Given the description of an element on the screen output the (x, y) to click on. 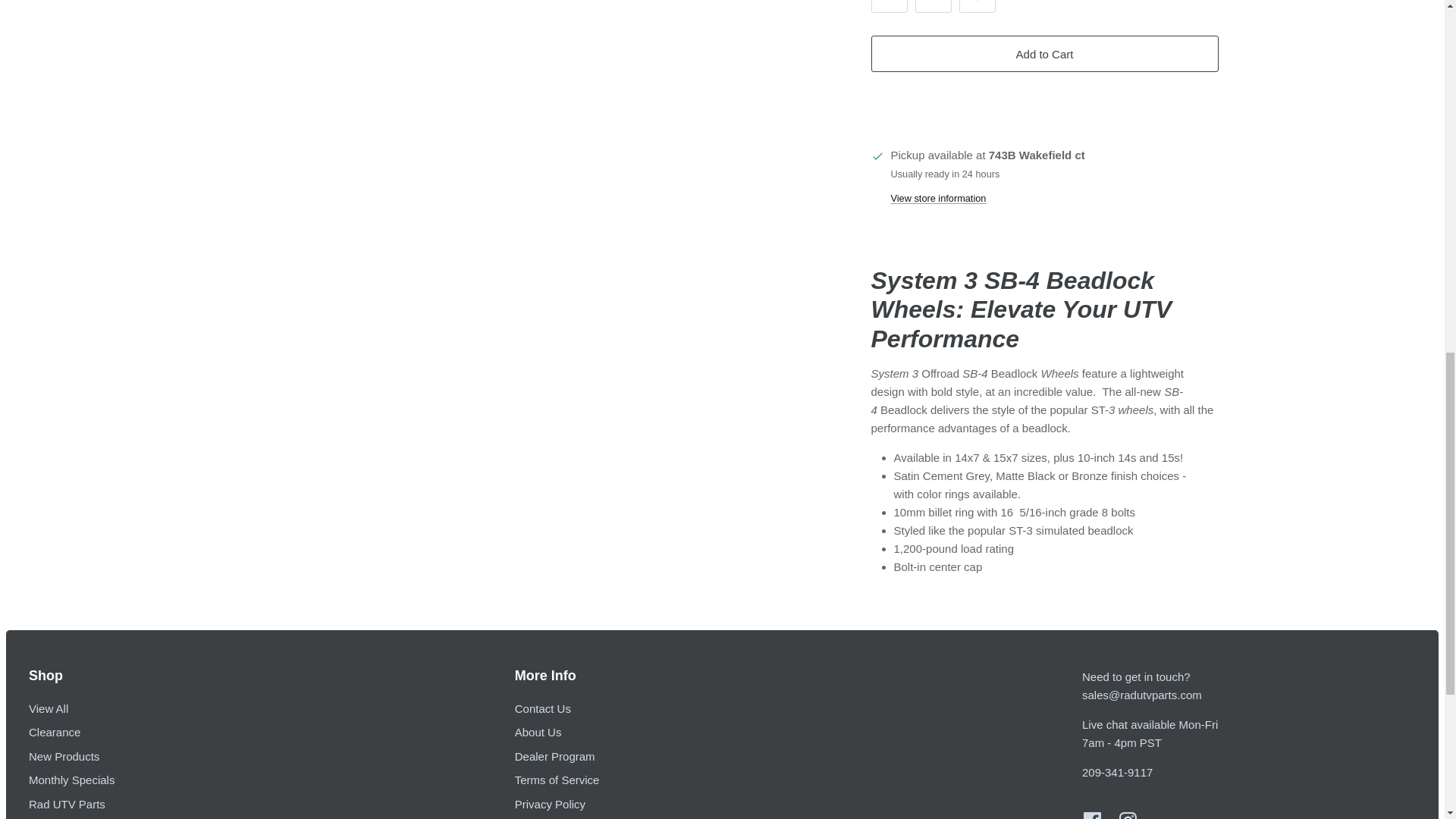
Facebook (1091, 815)
Instagram (1128, 815)
1 (933, 6)
